Given the description of an element on the screen output the (x, y) to click on. 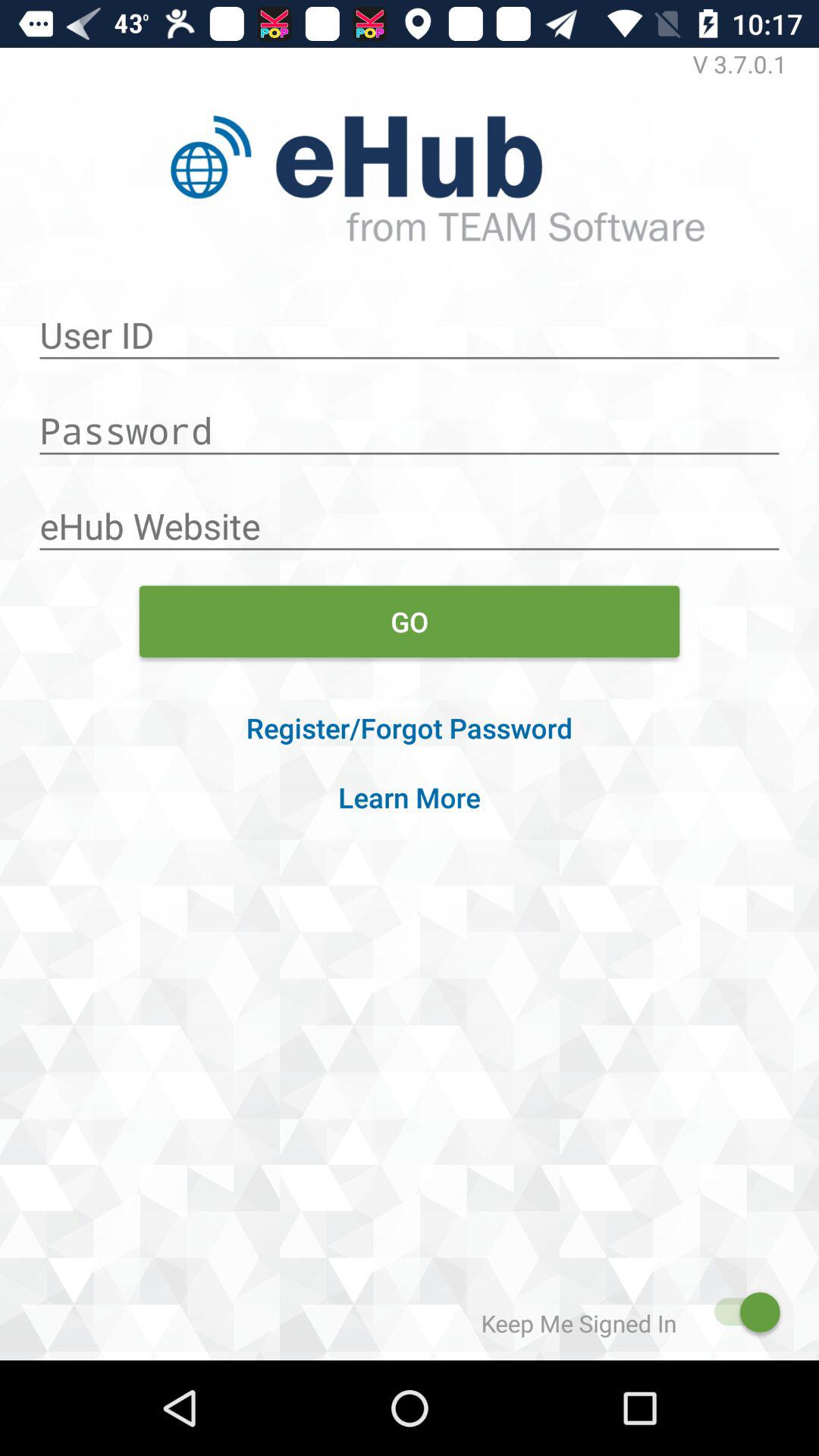
this key on and off button (739, 1312)
